Given the description of an element on the screen output the (x, y) to click on. 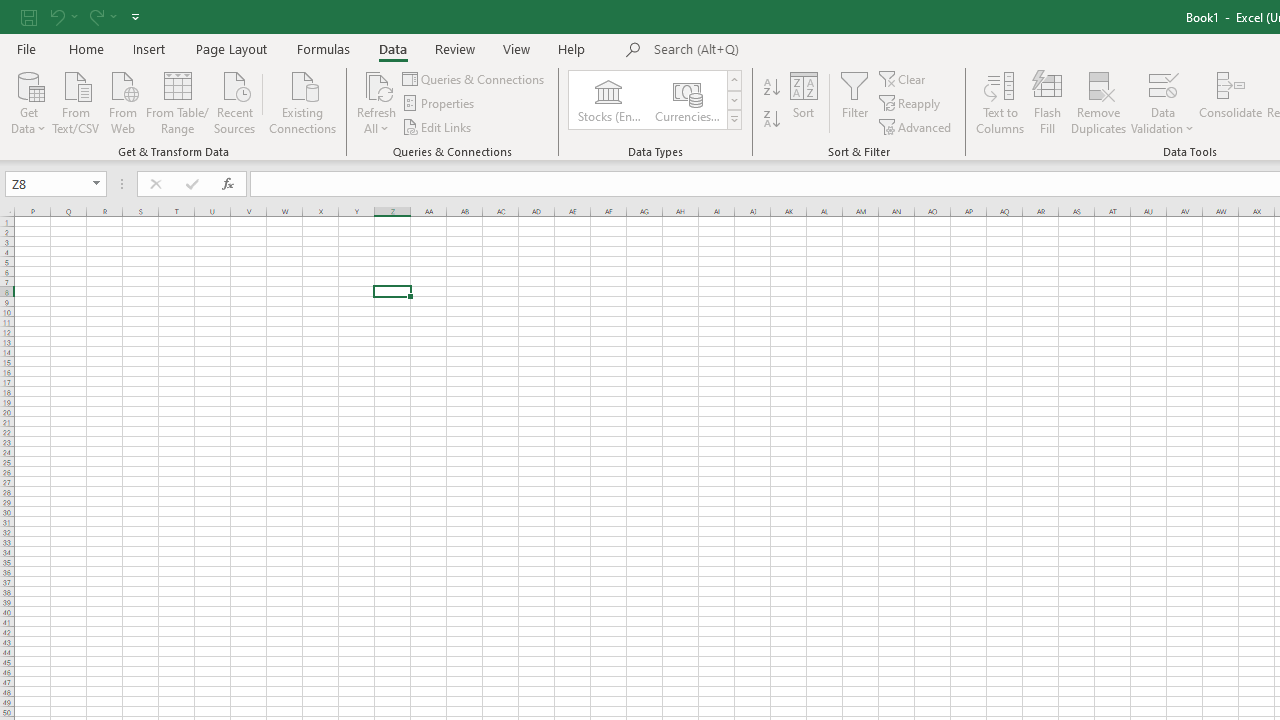
Sort A to Z (772, 87)
Advanced... (916, 126)
Sort Z to A (772, 119)
Clear (903, 78)
Stocks (English) (608, 100)
Filter (854, 102)
AutomationID: ConvertToLinkedEntity (655, 99)
